Given the description of an element on the screen output the (x, y) to click on. 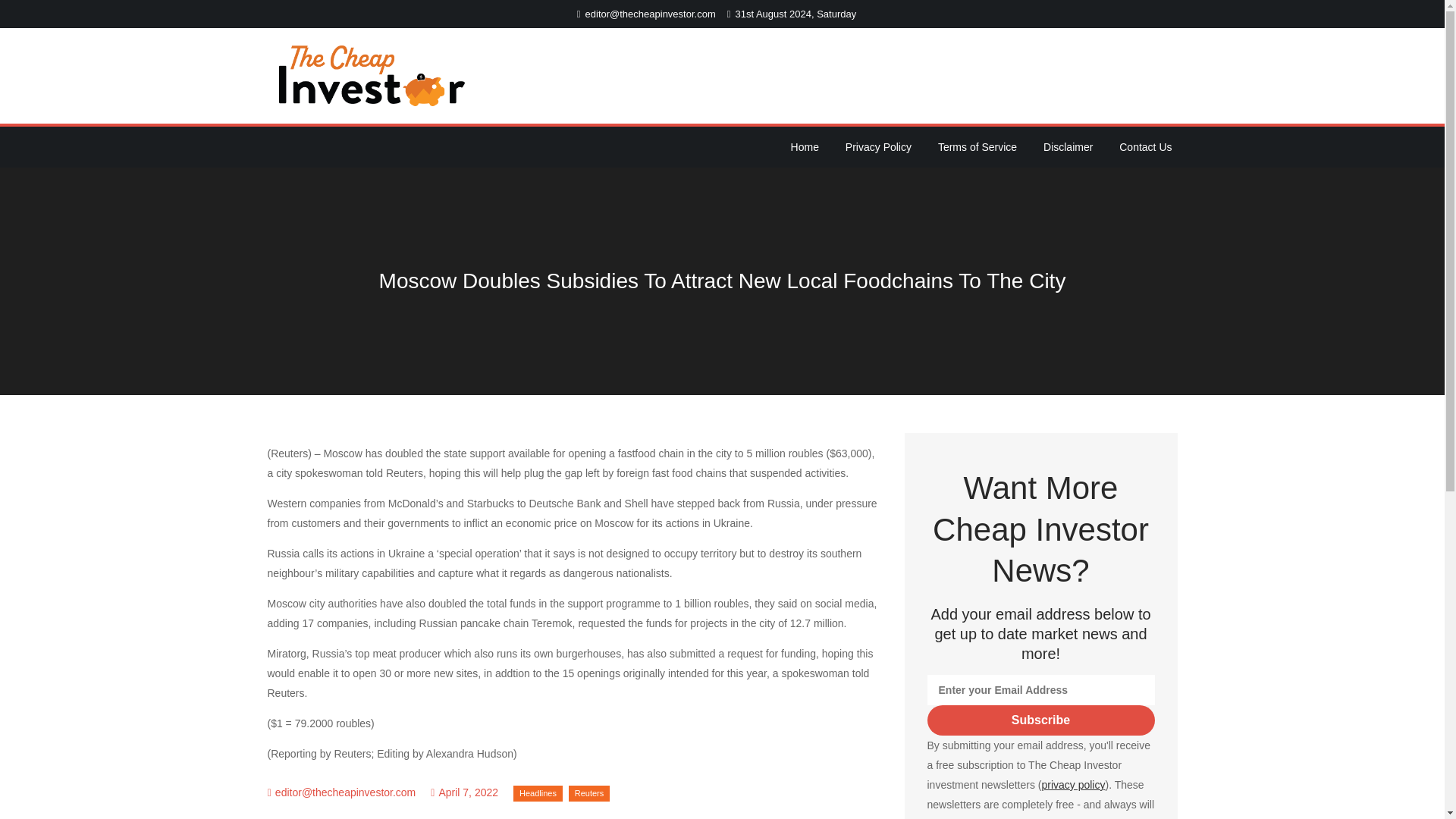
April 7, 2022 (463, 792)
Contact Us (1145, 146)
Subscribe (1040, 720)
Reuters (589, 793)
The Cheap Investor (561, 86)
Disclaimer (1067, 146)
Subscribe (1040, 720)
Home (804, 146)
privacy policy (1073, 784)
Headlines (537, 793)
